Given the description of an element on the screen output the (x, y) to click on. 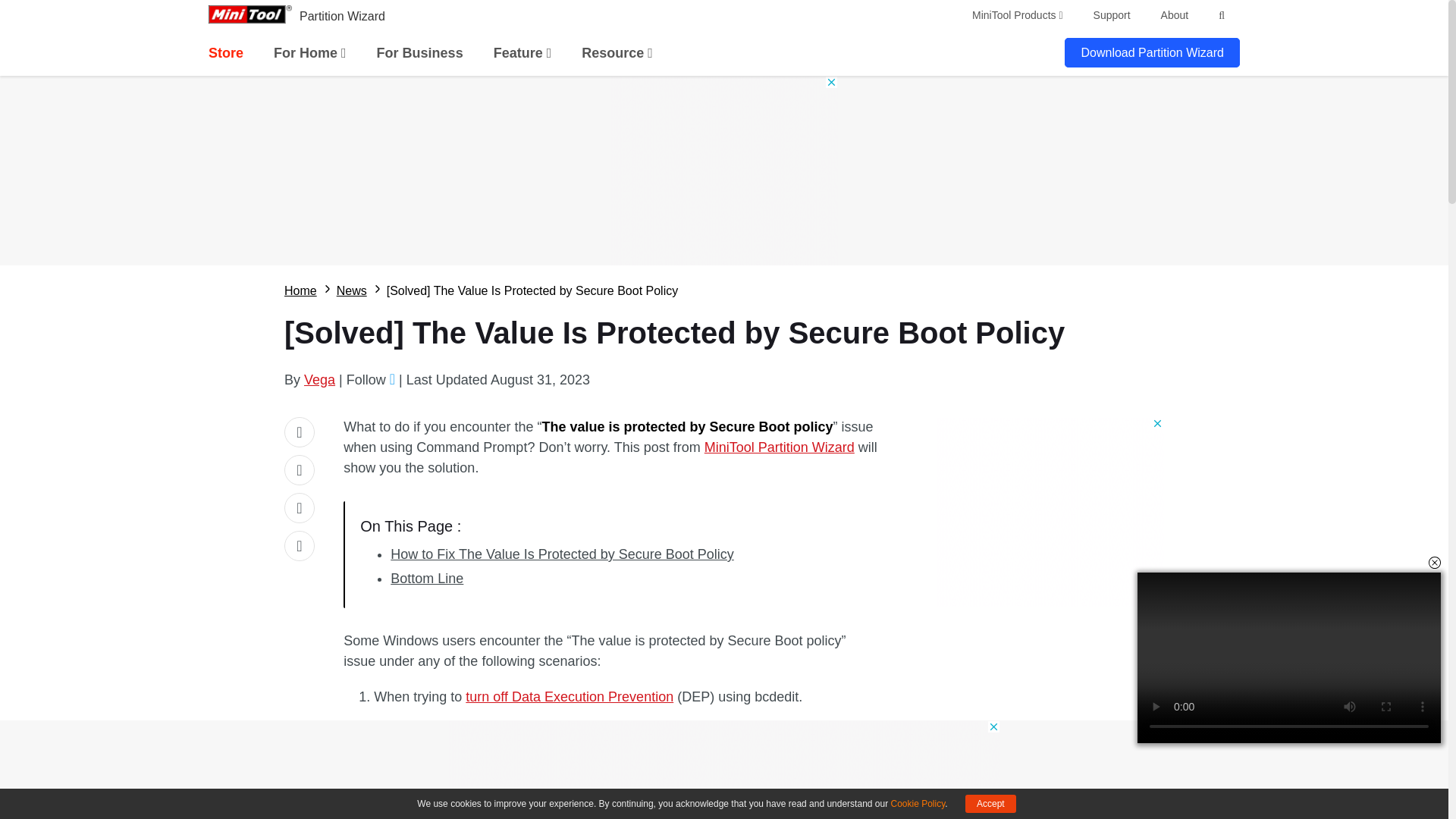
3rd party ad content (1049, 511)
Partition Wizard (342, 15)
For Business (420, 52)
Bottom Line (426, 578)
Home (300, 290)
disable Driver Signature Enforcement (579, 732)
Store (225, 52)
Vega (319, 379)
About (1174, 15)
For Home (309, 52)
3rd party ad content (724, 170)
News (351, 290)
MiniTool Products (1017, 15)
Support (1112, 15)
Feature (522, 52)
